Given the description of an element on the screen output the (x, y) to click on. 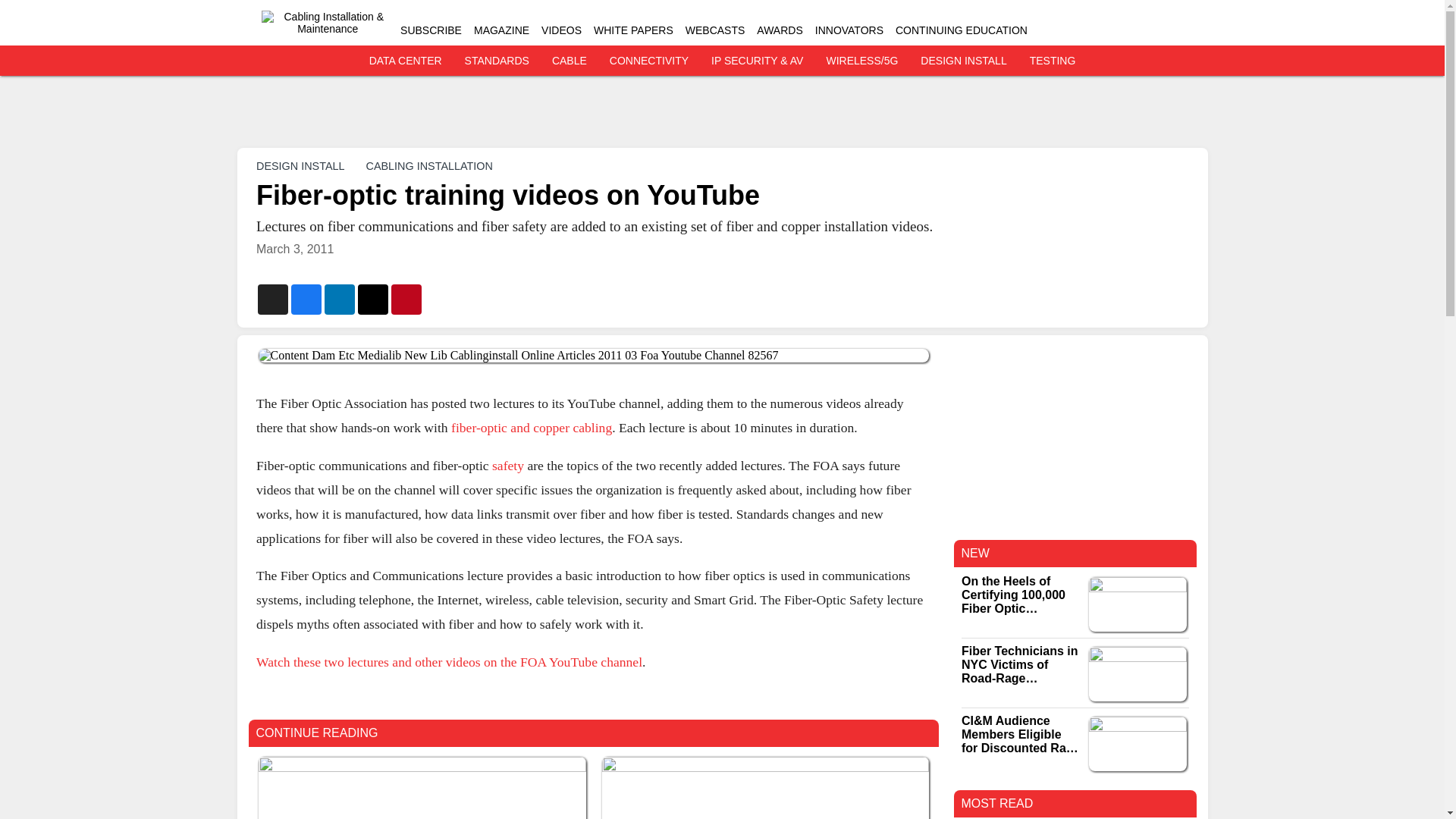
CONTINUING EDUCATION (961, 30)
safety (508, 464)
DATA CENTER (405, 60)
MAGAZINE (501, 30)
STANDARDS (496, 60)
SUBSCRIBE (430, 30)
INNOVATORS (849, 30)
TESTING (1052, 60)
CONNECTIVITY (649, 60)
